Given the description of an element on the screen output the (x, y) to click on. 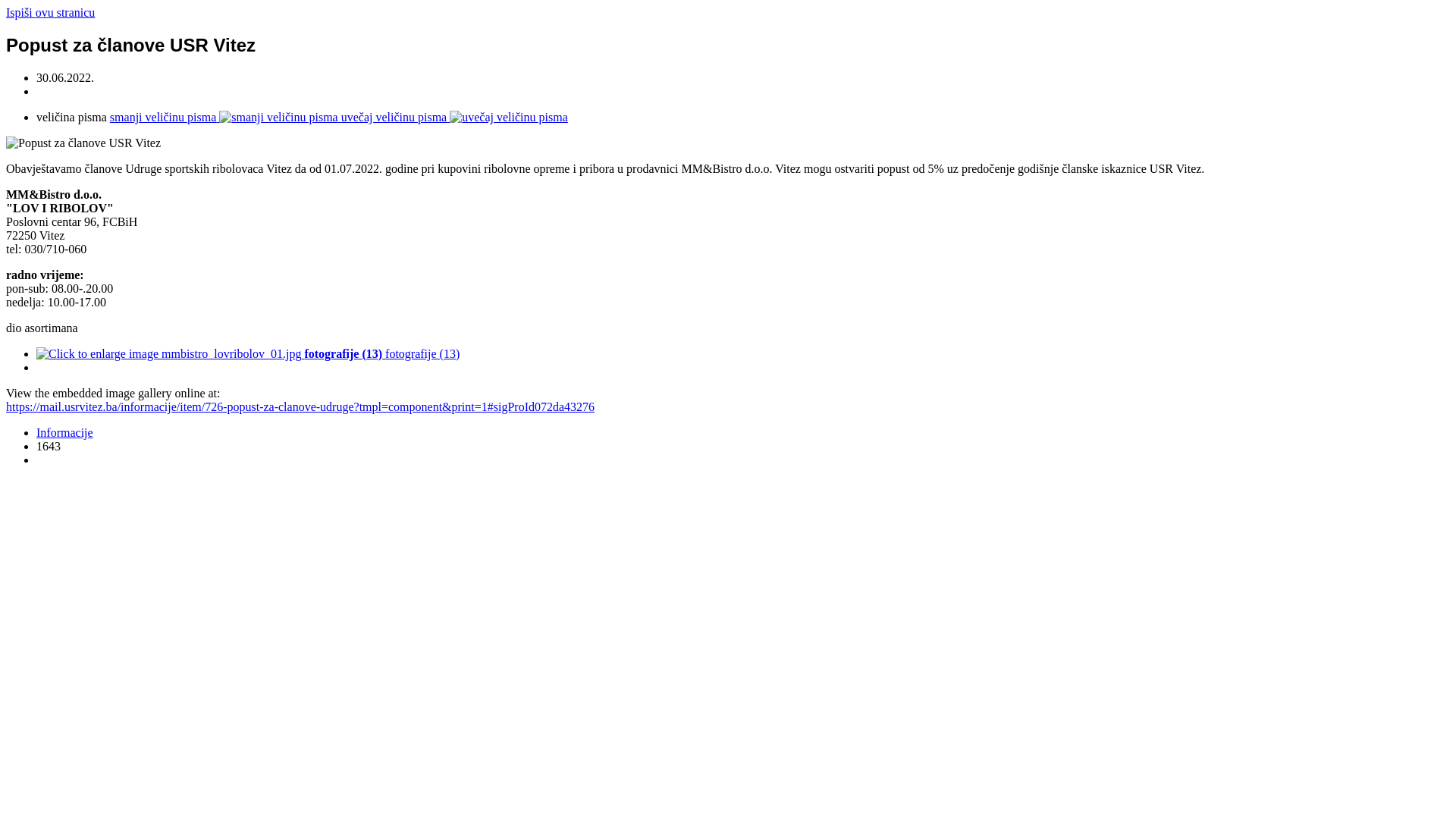
Informacije Element type: text (64, 432)
fotografije (13) fotografije (13) Element type: text (247, 353)
Click to enlarge image mmbistro_lovribolov_01.jpg Element type: hover (168, 353)
